Given the description of an element on the screen output the (x, y) to click on. 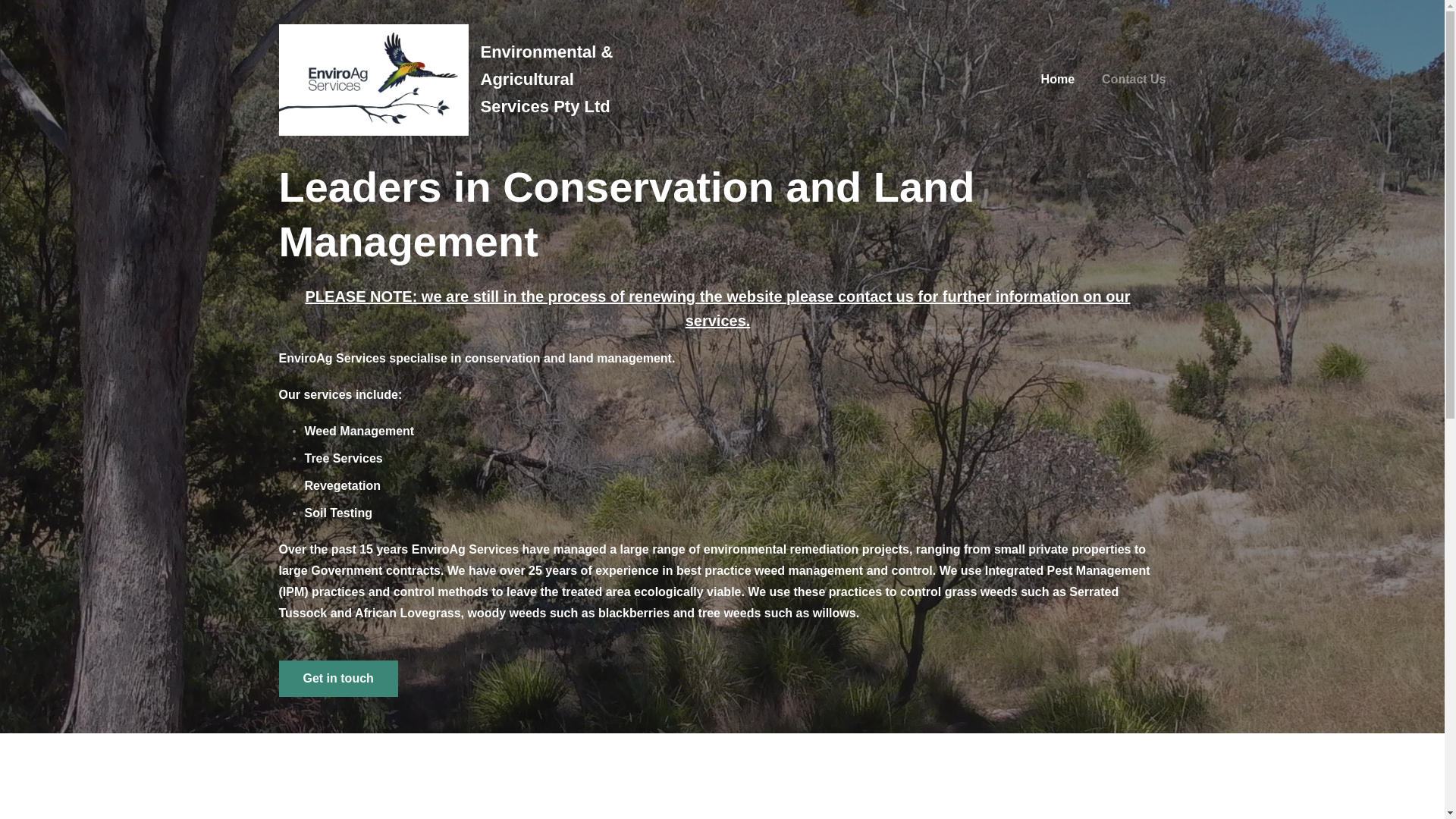
Home Element type: text (1057, 79)
Get in touch Element type: text (338, 678)
Contact Us Element type: text (1133, 79)
